Given the description of an element on the screen output the (x, y) to click on. 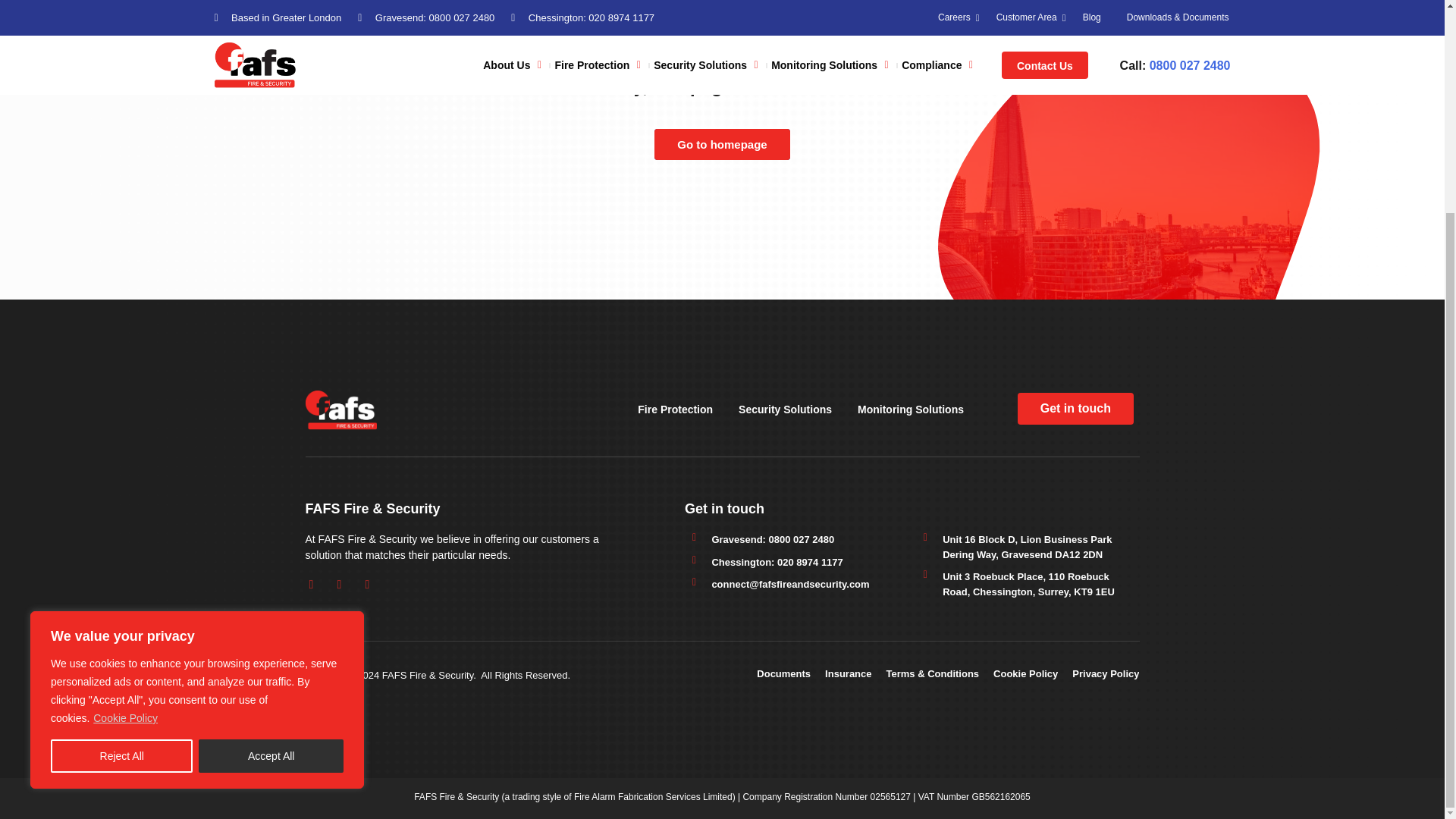
Cookie Policy (125, 440)
Reject All (121, 478)
Accept All (270, 478)
